Given the description of an element on the screen output the (x, y) to click on. 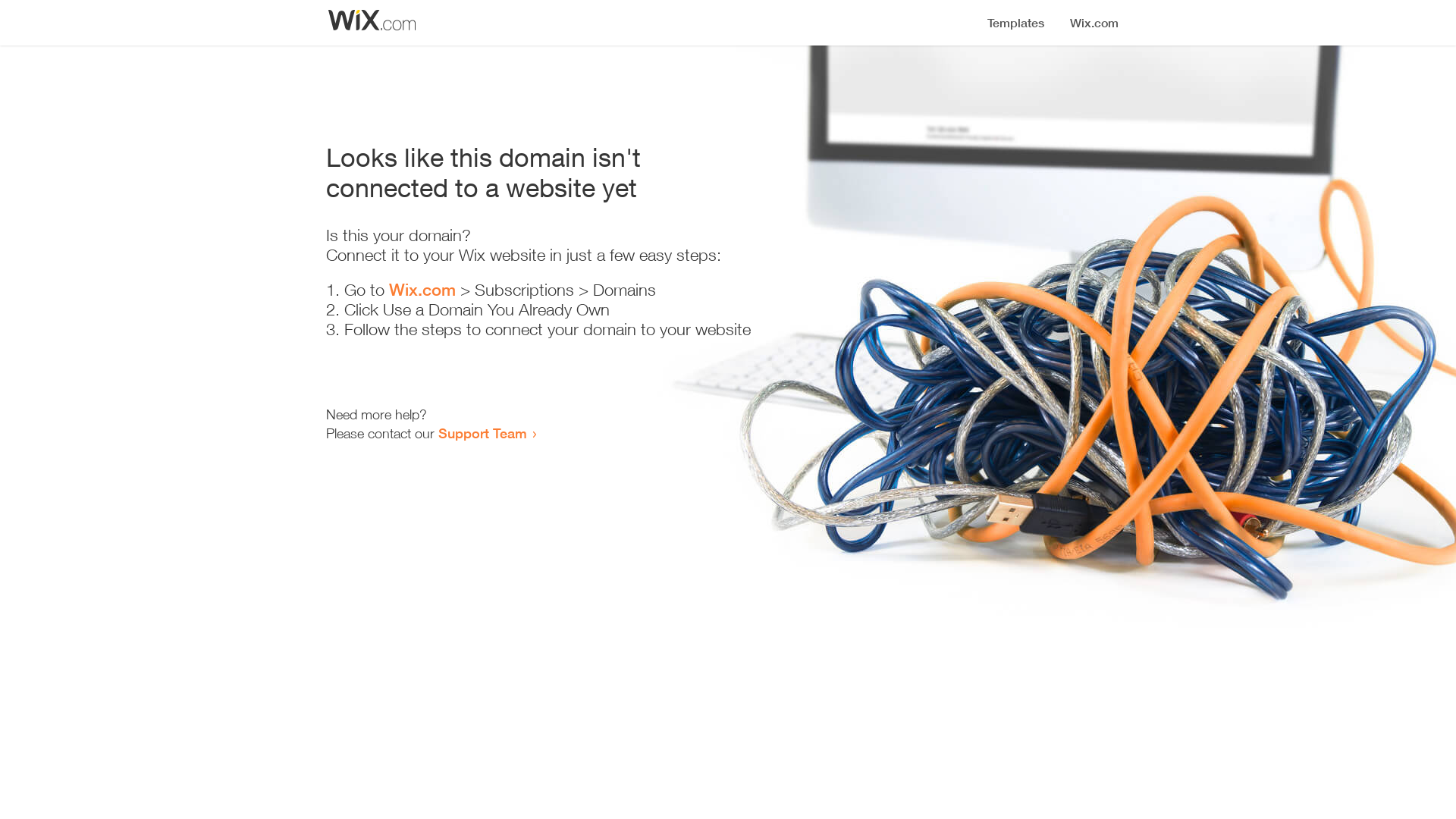
Wix.com Element type: text (422, 289)
Support Team Element type: text (482, 432)
